Given the description of an element on the screen output the (x, y) to click on. 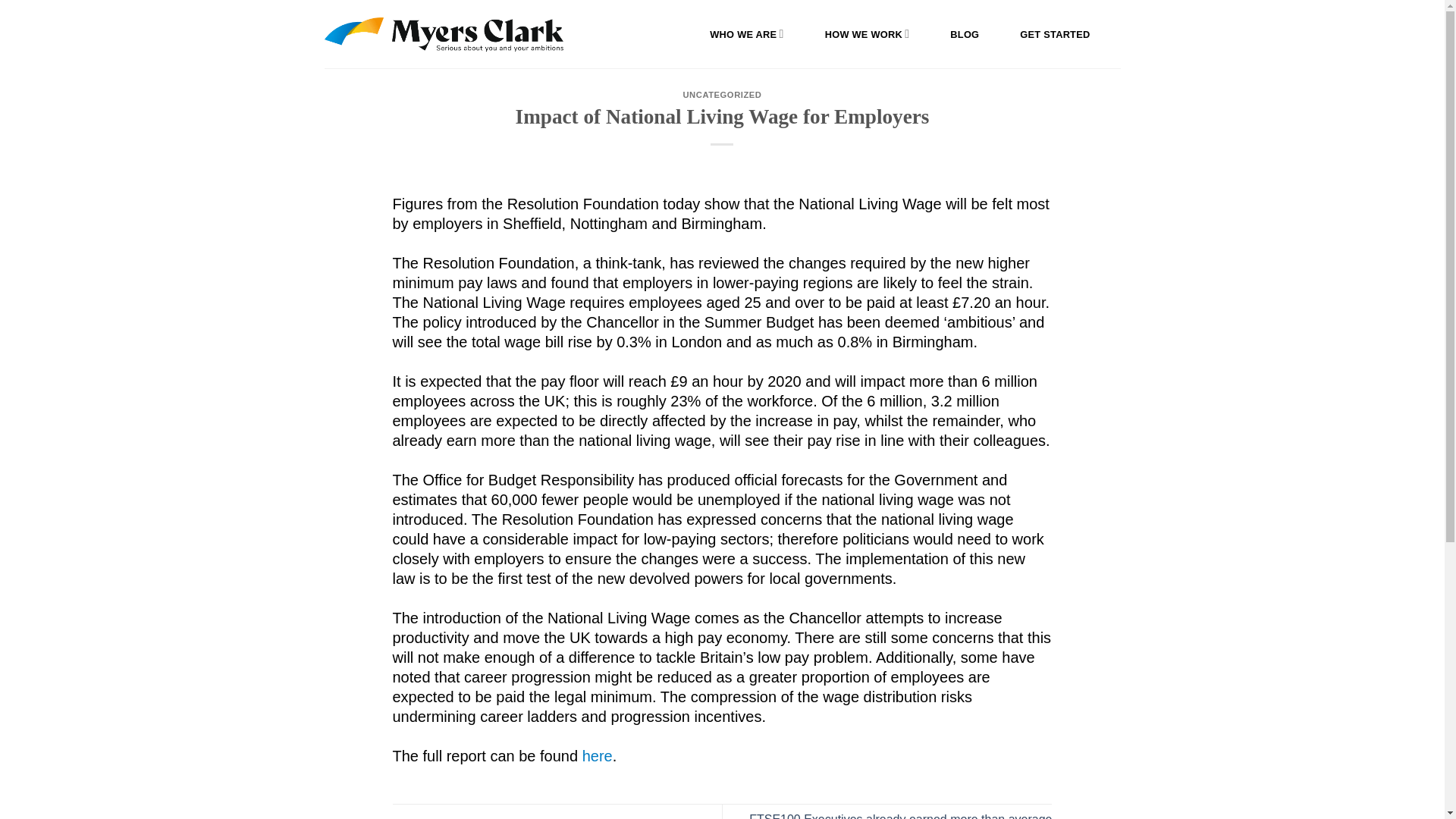
GET STARTED (1054, 34)
BLOG (964, 34)
here (597, 755)
WHO WE ARE (746, 33)
Myers Clark (443, 33)
HOW WE WORK (867, 33)
